Given the description of an element on the screen output the (x, y) to click on. 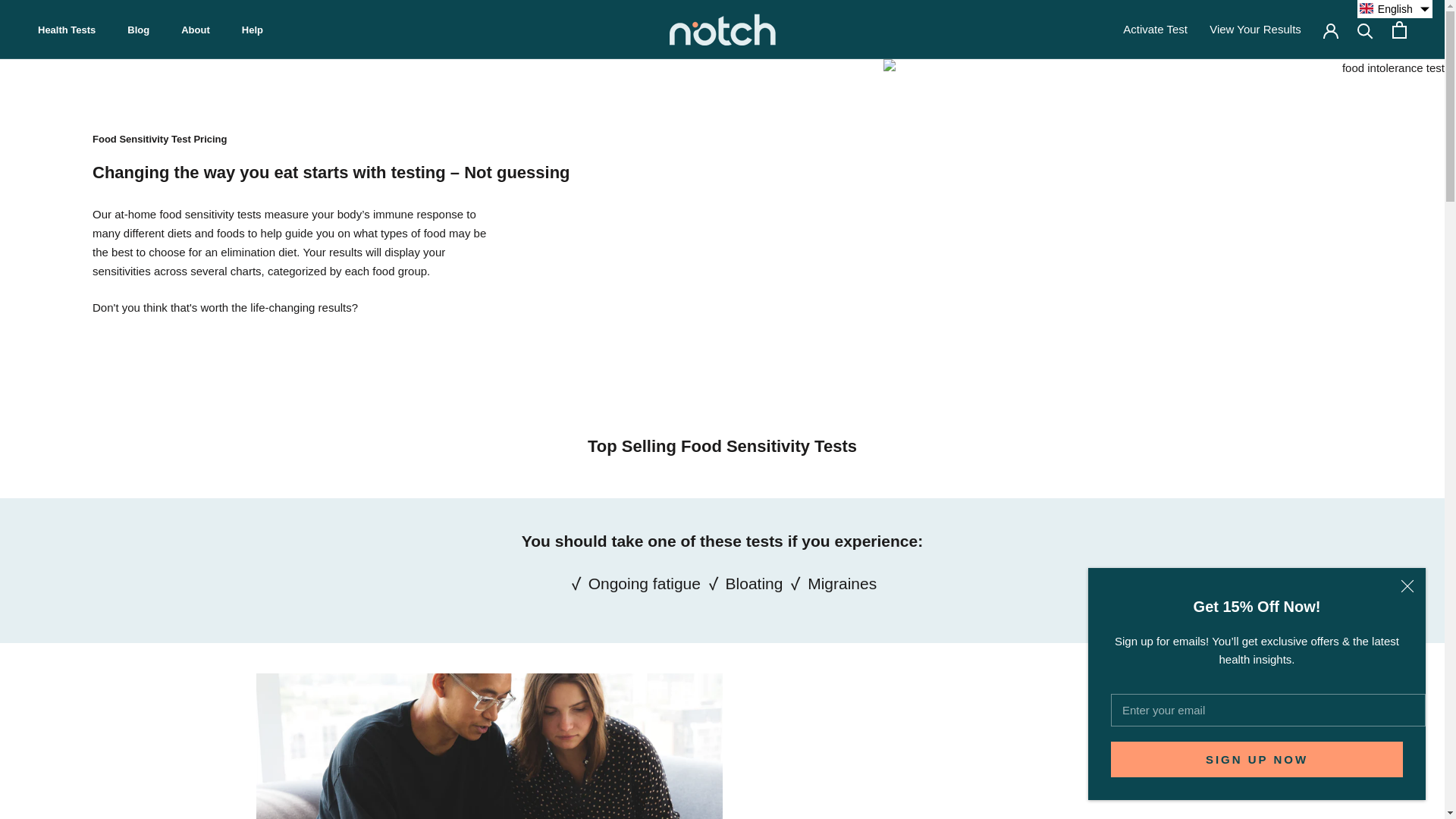
SIGN UP NOW (1256, 759)
